Given the description of an element on the screen output the (x, y) to click on. 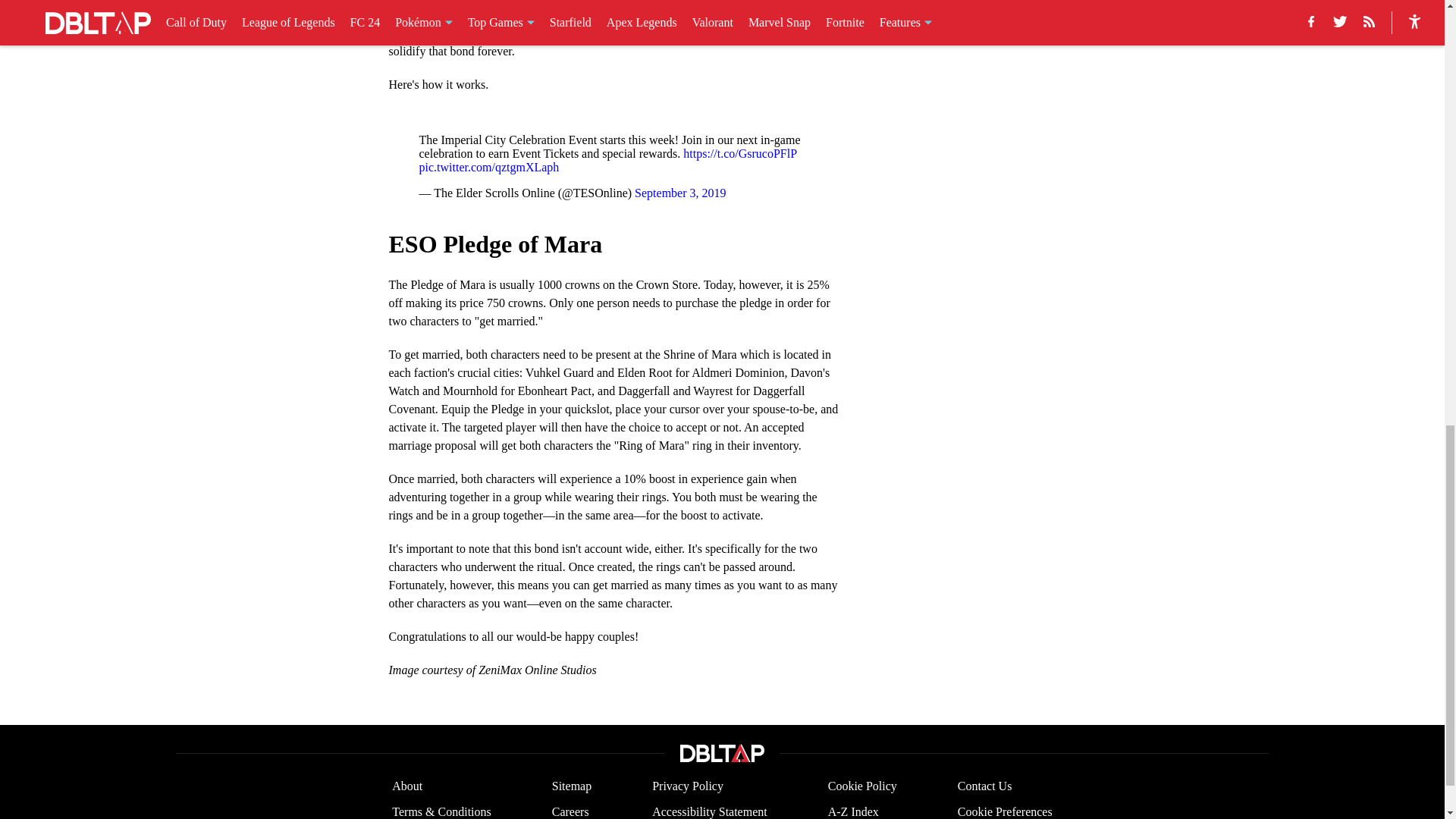
Sitemap (571, 786)
About (406, 786)
September 3, 2019 (679, 192)
Privacy Policy (687, 786)
